Given the description of an element on the screen output the (x, y) to click on. 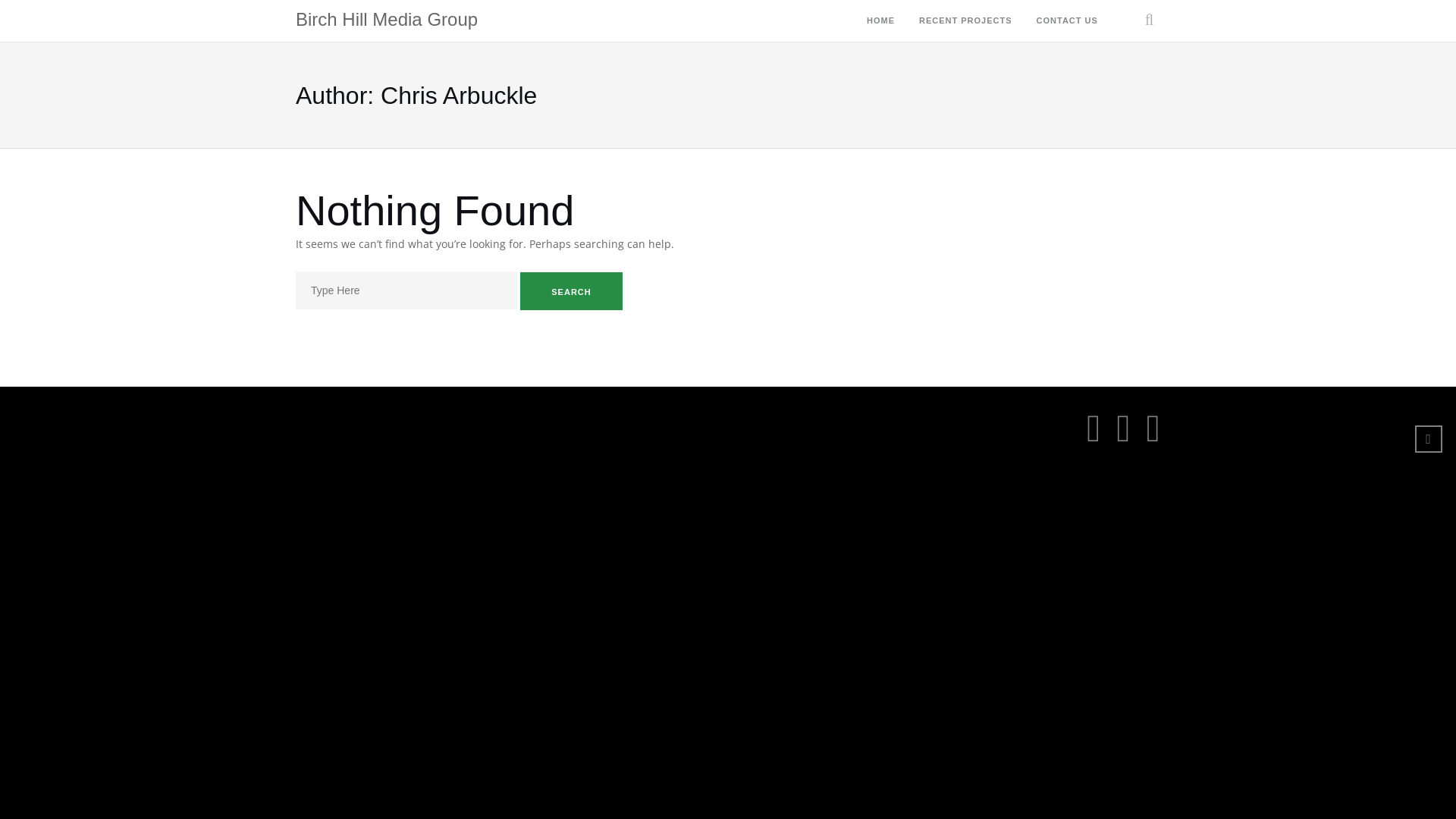
CONTACT US Element type: text (1067, 21)
HOME Element type: text (880, 21)
Search Element type: text (571, 291)
Birch Hill Media Group Element type: text (386, 20)
RECENT PROJECTS Element type: text (965, 21)
Search Element type: text (1136, 72)
